Given the description of an element on the screen output the (x, y) to click on. 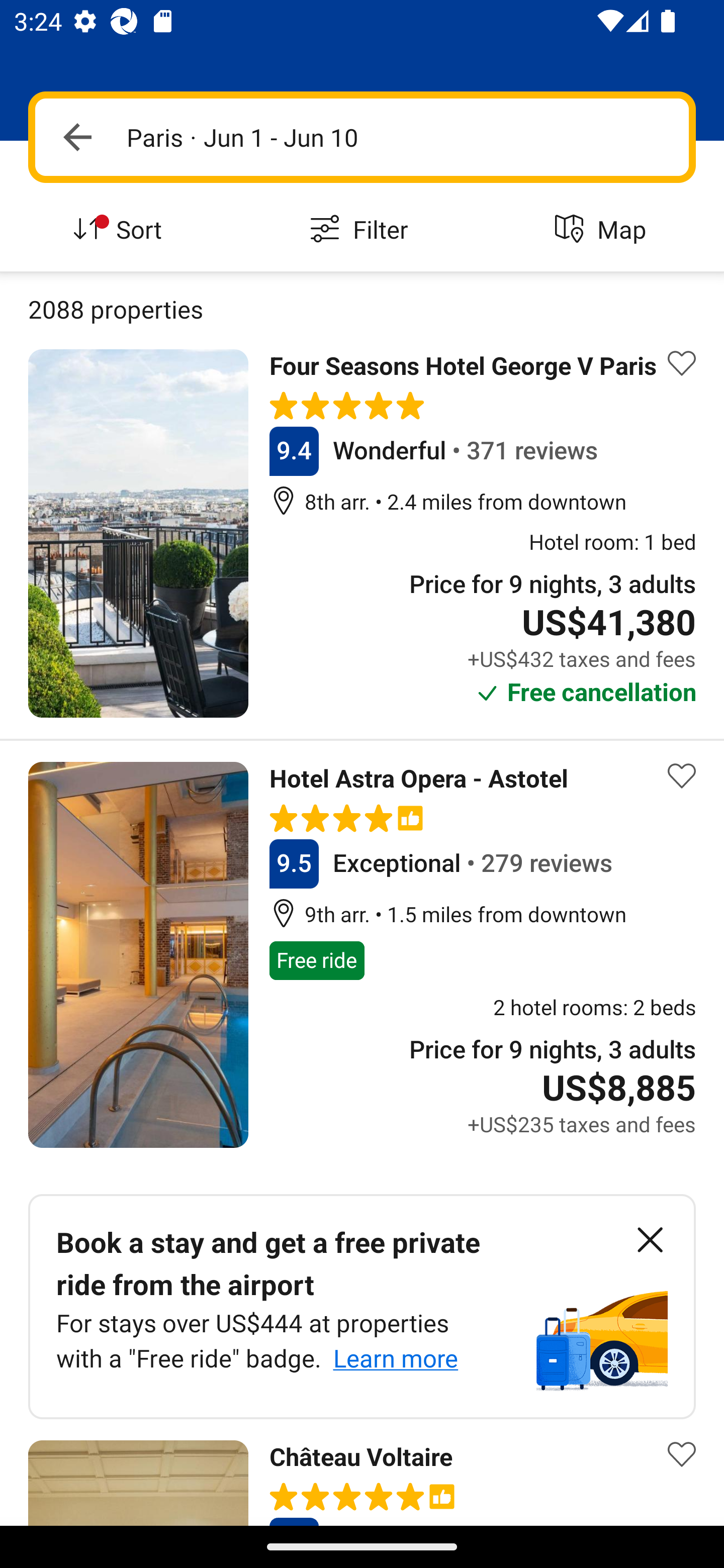
Navigate up Paris · Jun 1 - Jun 10 (362, 136)
Navigate up (77, 136)
Sort (120, 230)
Filter (361, 230)
Map (603, 230)
Save property to list (681, 363)
Save property to list (681, 775)
Dismiss banner button (650, 1239)
Save property to list (681, 1453)
